Given the description of an element on the screen output the (x, y) to click on. 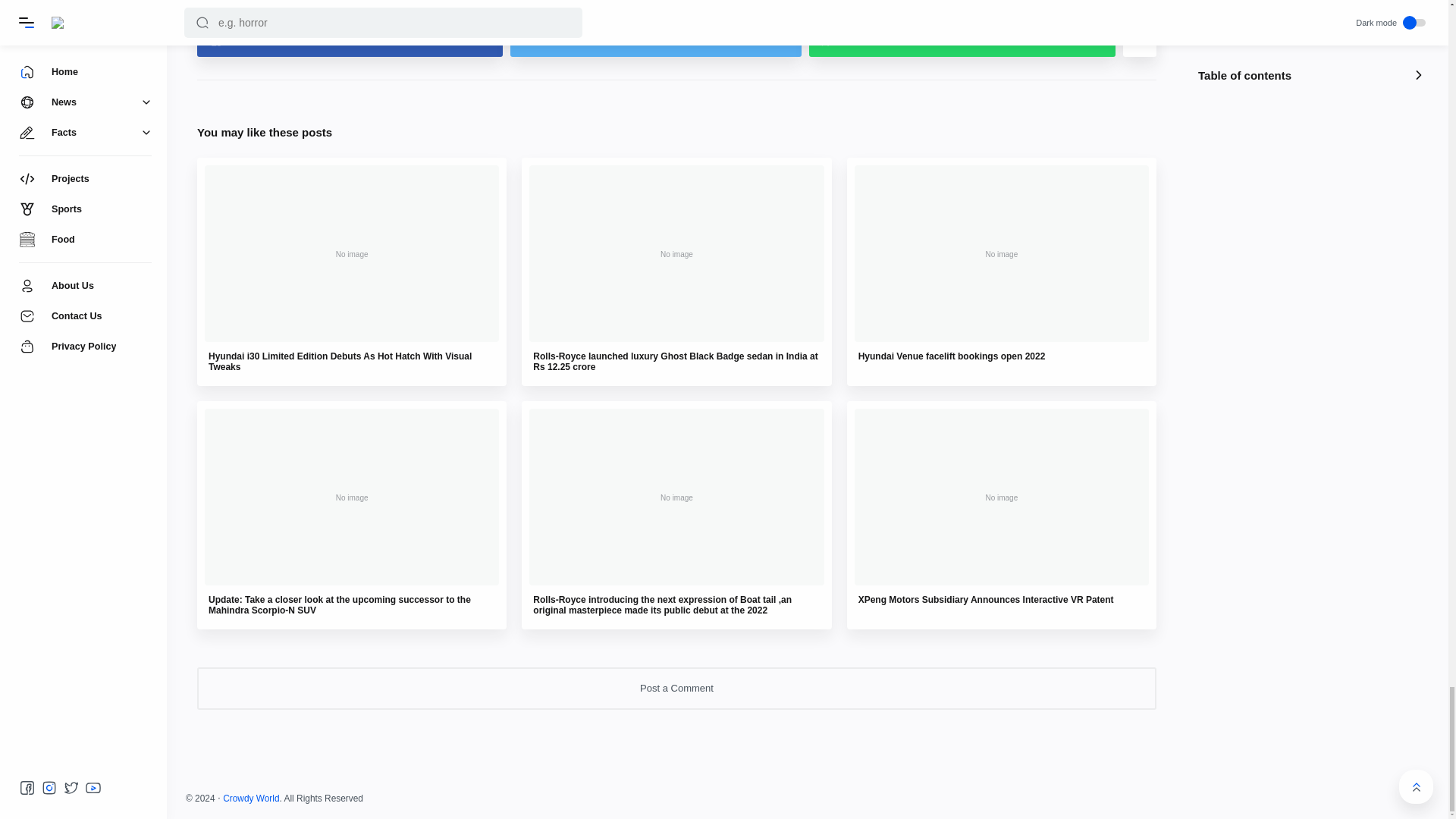
XPeng Motors Subsidiary Announces Interactive VR Patent (986, 599)
Hyundai Venue facelift bookings open 2022 (952, 356)
